Given the description of an element on the screen output the (x, y) to click on. 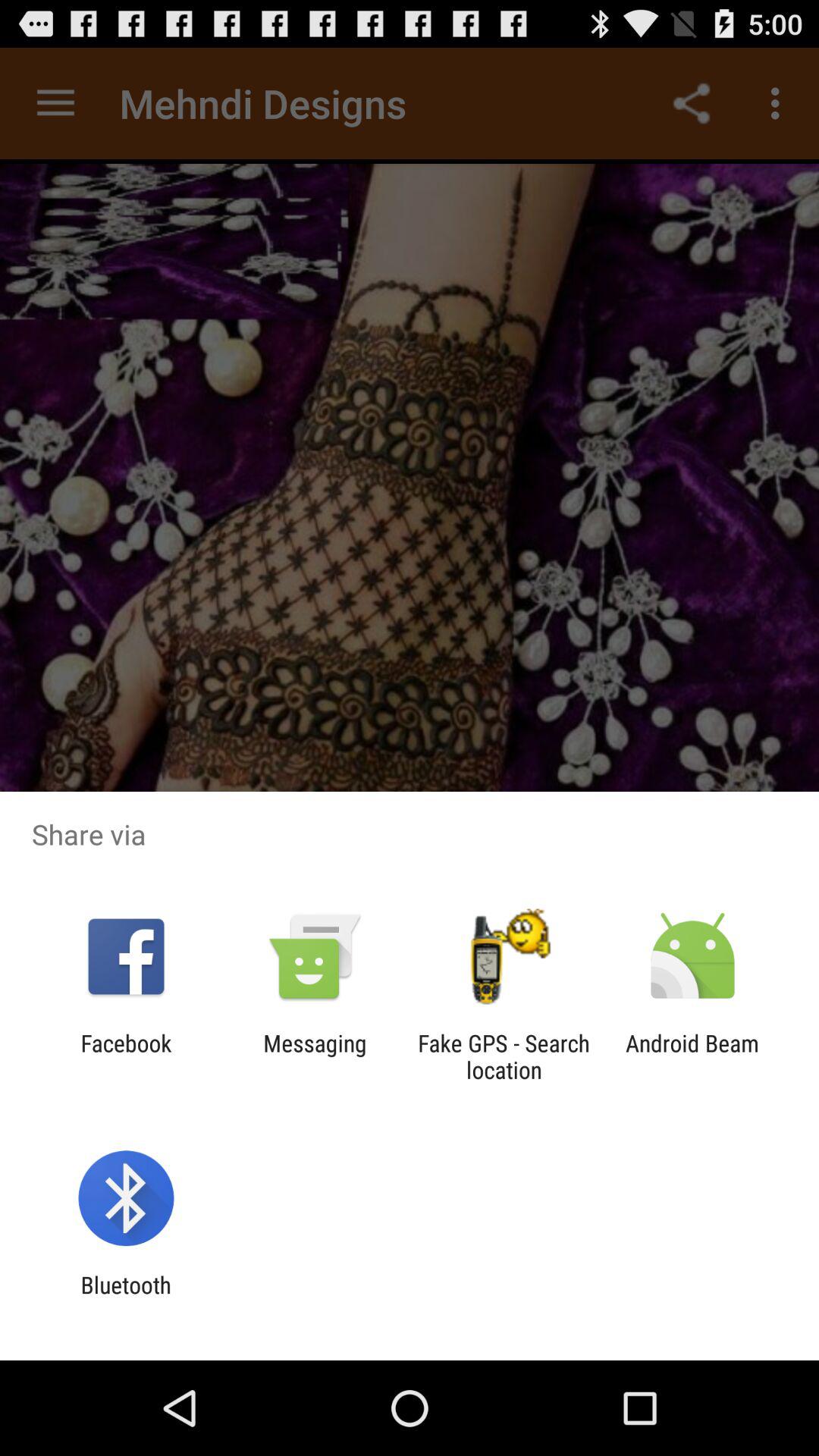
launch the facebook (125, 1056)
